Given the description of an element on the screen output the (x, y) to click on. 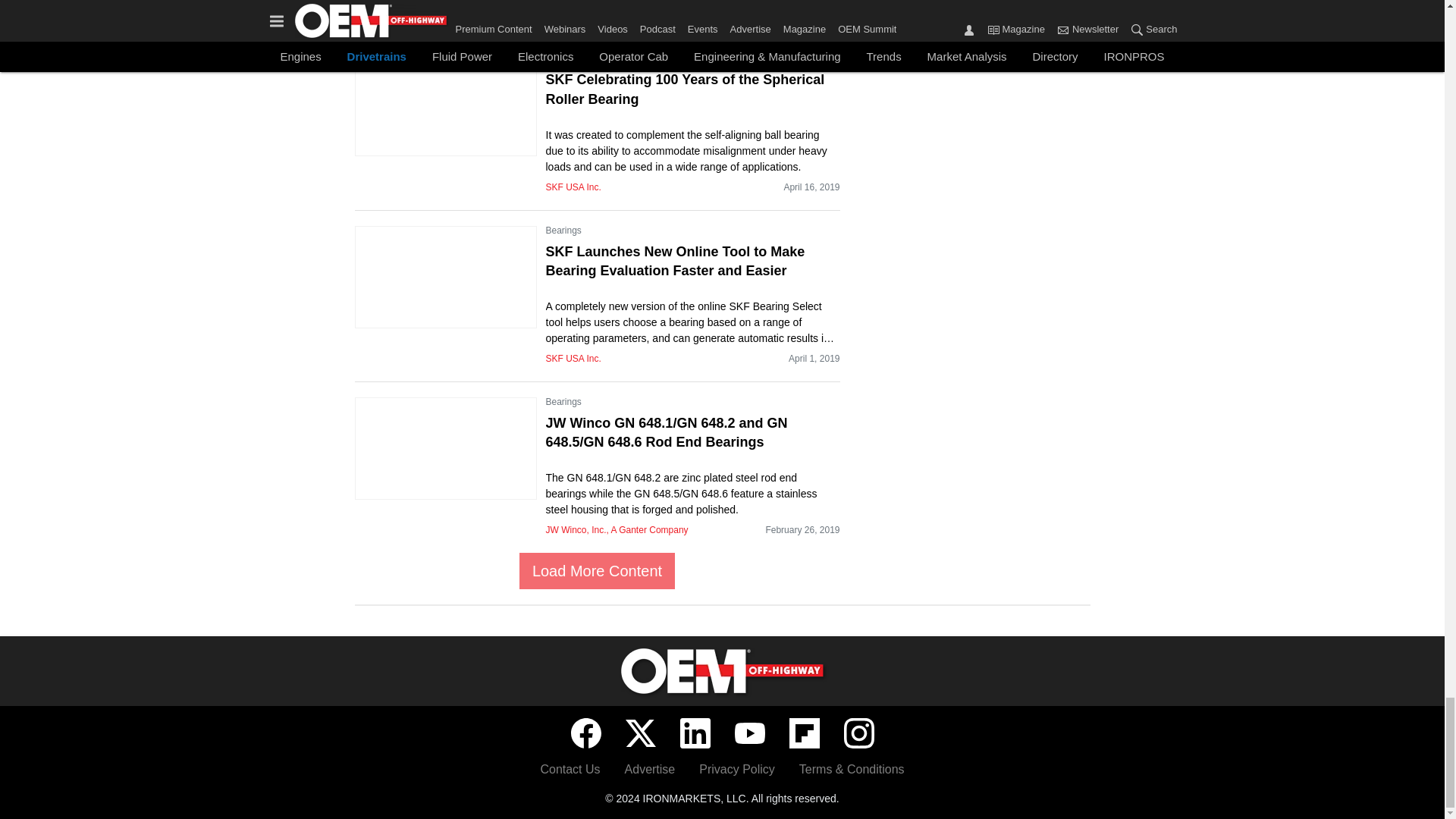
YouTube icon (748, 733)
Facebook icon (584, 733)
Twitter X icon (639, 733)
LinkedIn icon (694, 733)
Flipboard icon (803, 733)
